Given the description of an element on the screen output the (x, y) to click on. 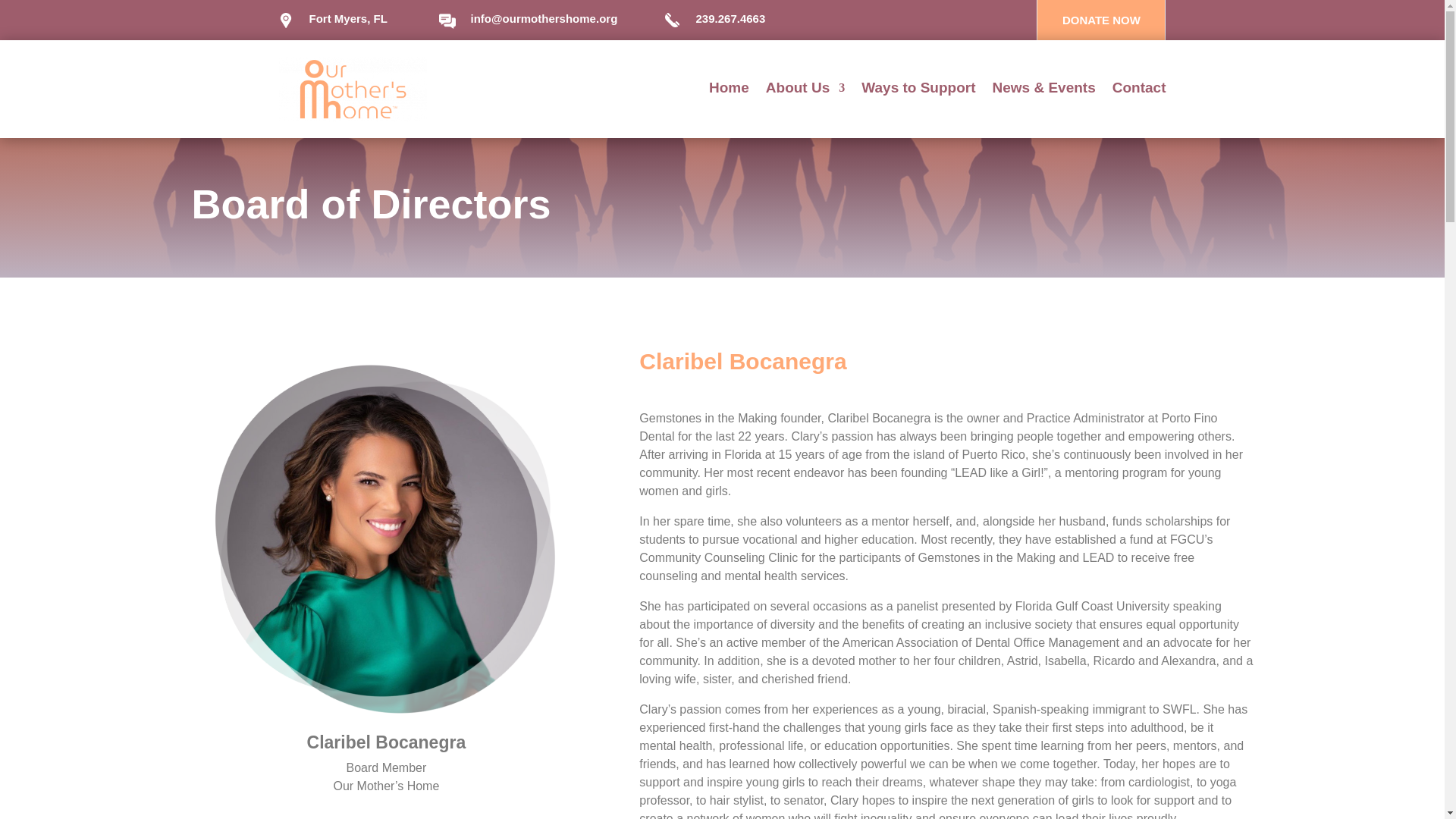
Ways to Support (918, 90)
Contact (1139, 90)
About Us (804, 90)
Home (729, 90)
